Given the description of an element on the screen output the (x, y) to click on. 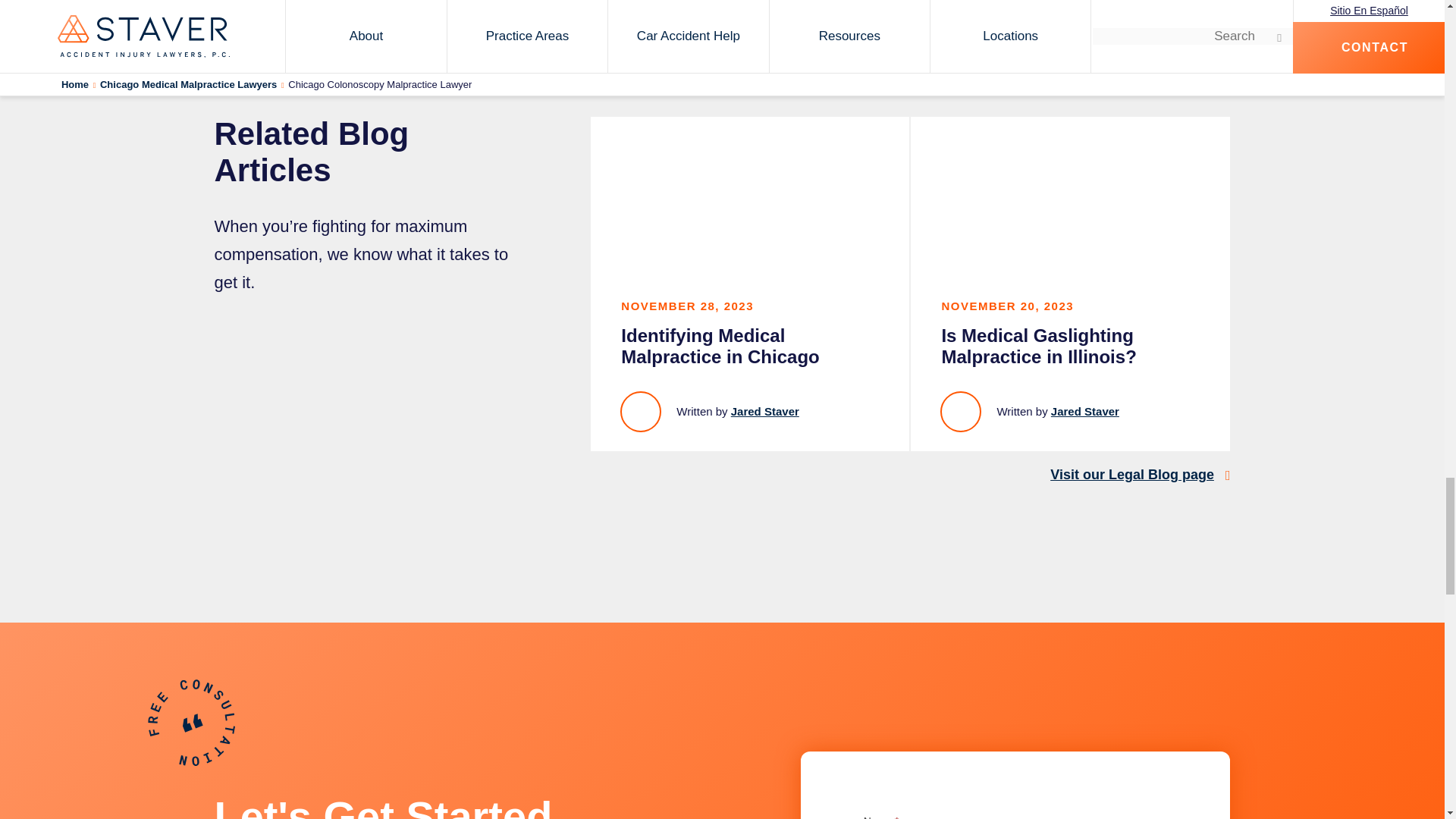
Identifying Medical Malpractice in Chicago (749, 283)
Is Medical Gaslighting Malpractice in Illinois? (1070, 283)
Visit our Legal Blog (1131, 474)
